Given the description of an element on the screen output the (x, y) to click on. 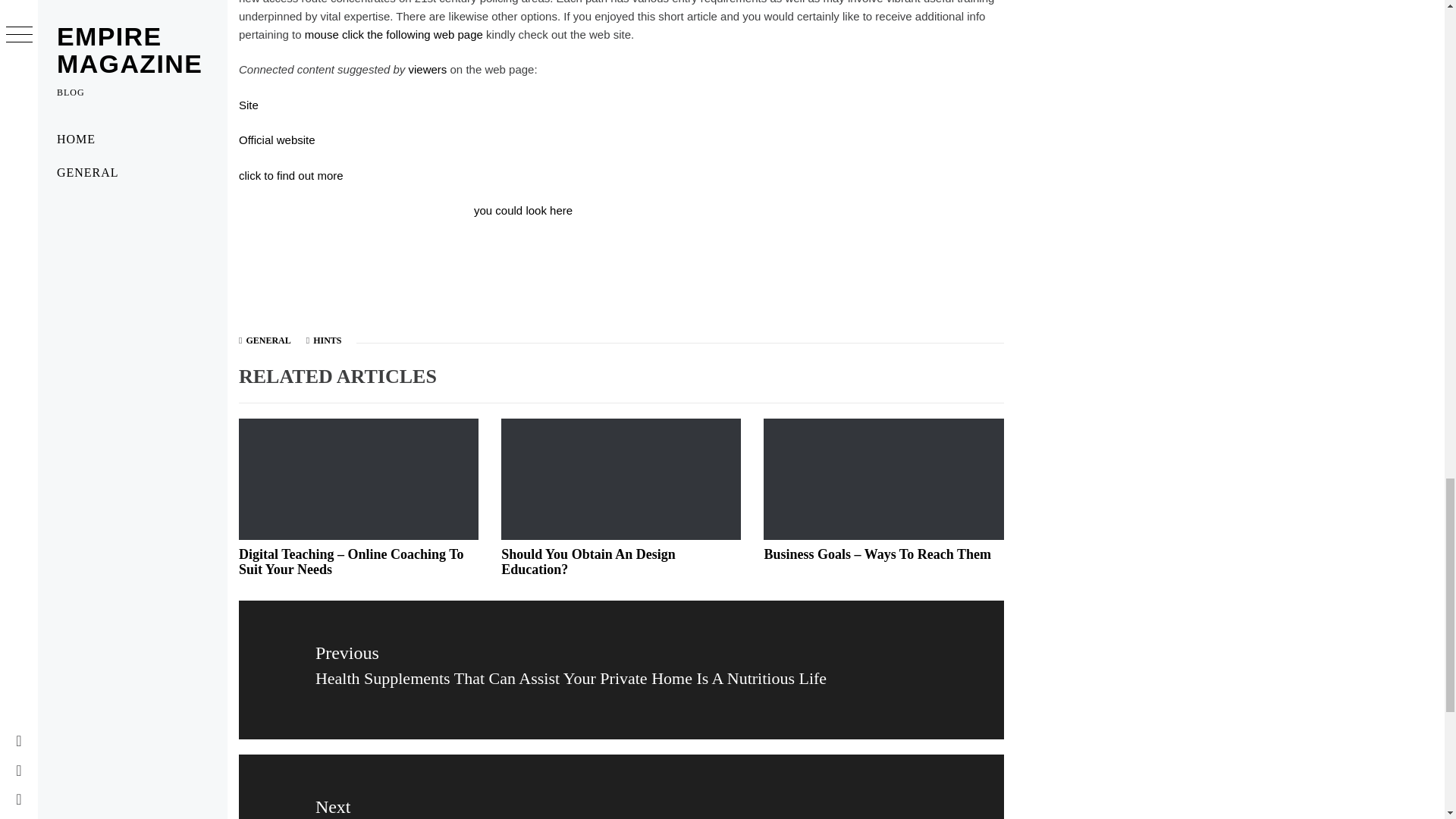
GENERAL (267, 339)
Official website (276, 139)
Site (248, 104)
viewers (621, 786)
HINTS (426, 69)
you could look here (326, 339)
click to find out more (523, 210)
mouse click the following web page (290, 174)
Should You Obtain An Design Education? (393, 33)
